Given the description of an element on the screen output the (x, y) to click on. 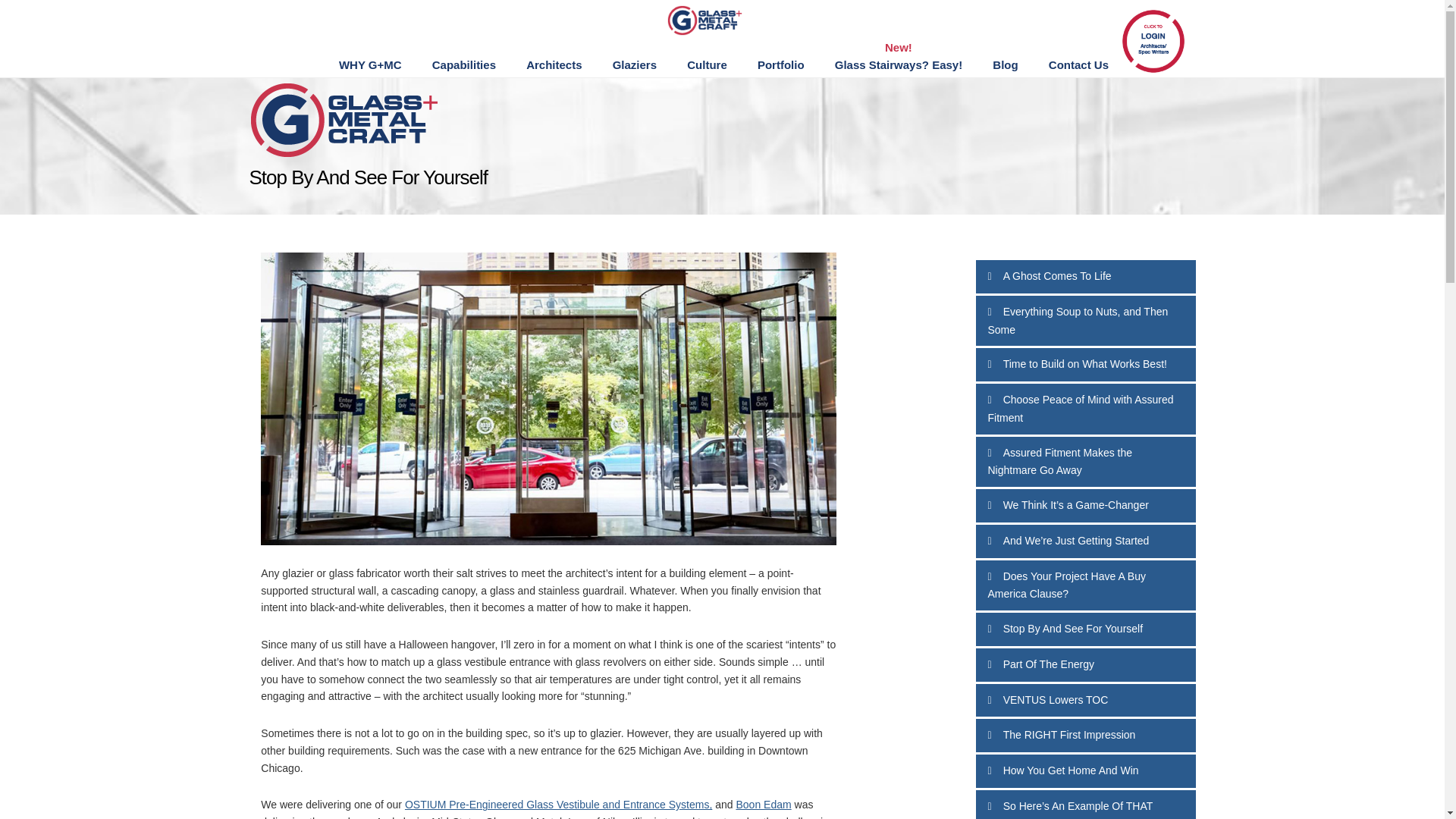
GLASS AND METAL CRAFT (719, 20)
Portfolio (780, 65)
Capabilities (463, 65)
Architects (553, 65)
Culture (706, 65)
Glaziers (633, 65)
